Given the description of an element on the screen output the (x, y) to click on. 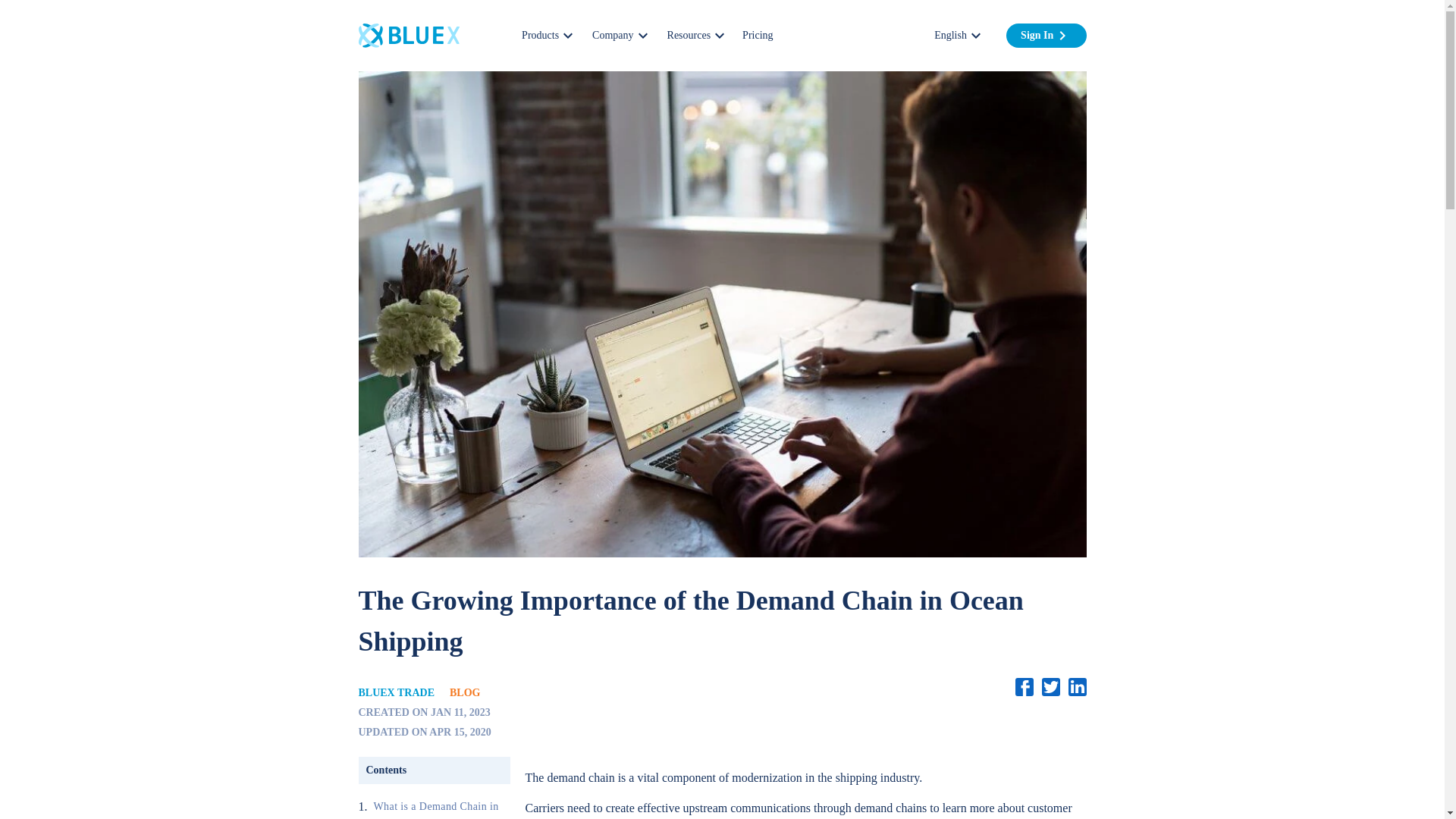
Sign In (1038, 35)
Products (547, 34)
Sign In (1046, 35)
Pricing (757, 35)
What is a Demand Chain in Ocean Shipping? (440, 807)
Company (620, 34)
Resources (696, 34)
English (957, 34)
What is a Demand Chain in Ocean Shipping? (440, 807)
BlueX Trade (408, 35)
